Given the description of an element on the screen output the (x, y) to click on. 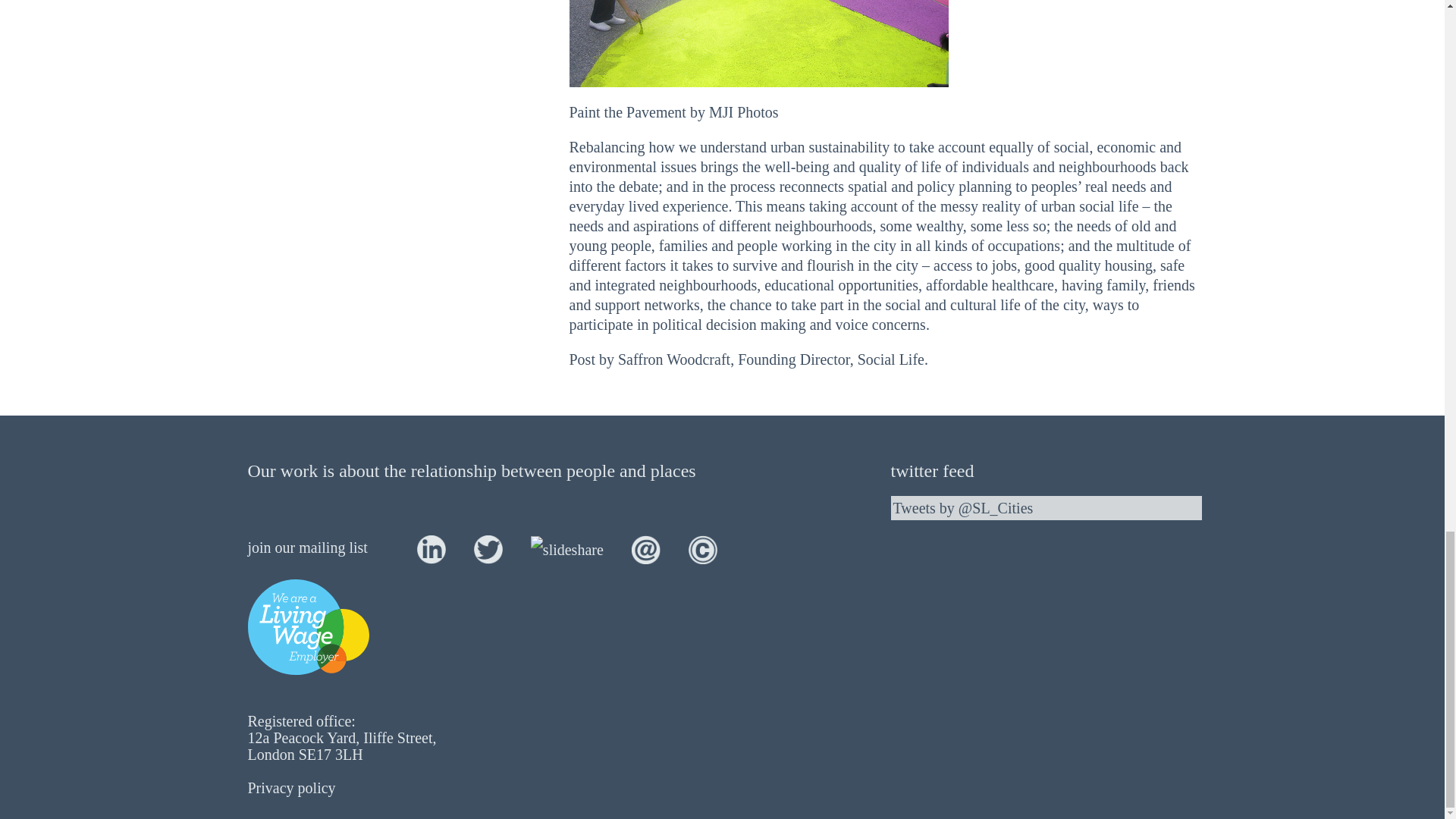
iPad Textbooks: Apple Education Event, January 2012 (841, 284)
educational opportunities (841, 284)
Social Life 2012 (702, 547)
join our mailing list (306, 547)
